Given the description of an element on the screen output the (x, y) to click on. 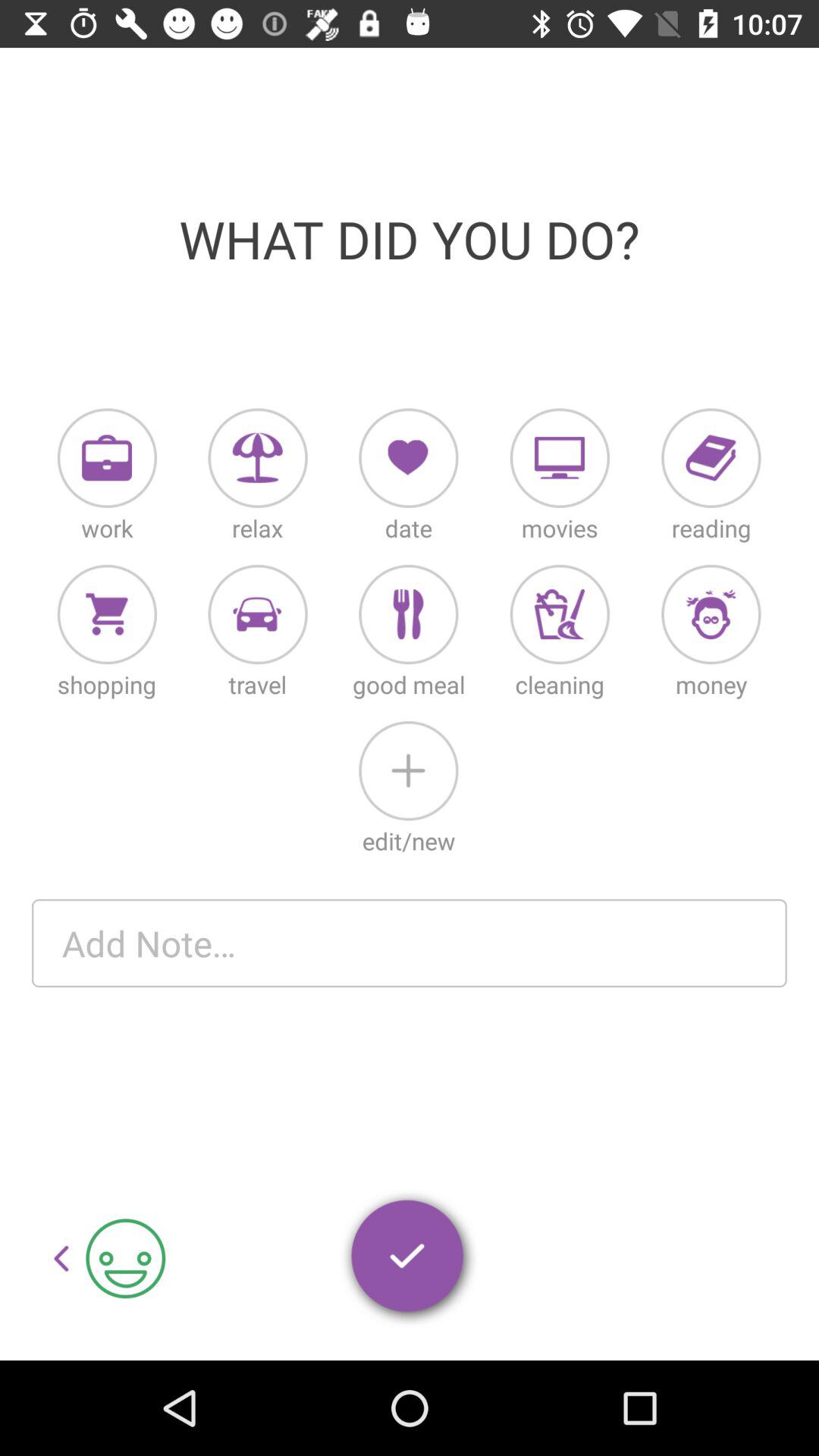
restaurant (408, 614)
